Given the description of an element on the screen output the (x, y) to click on. 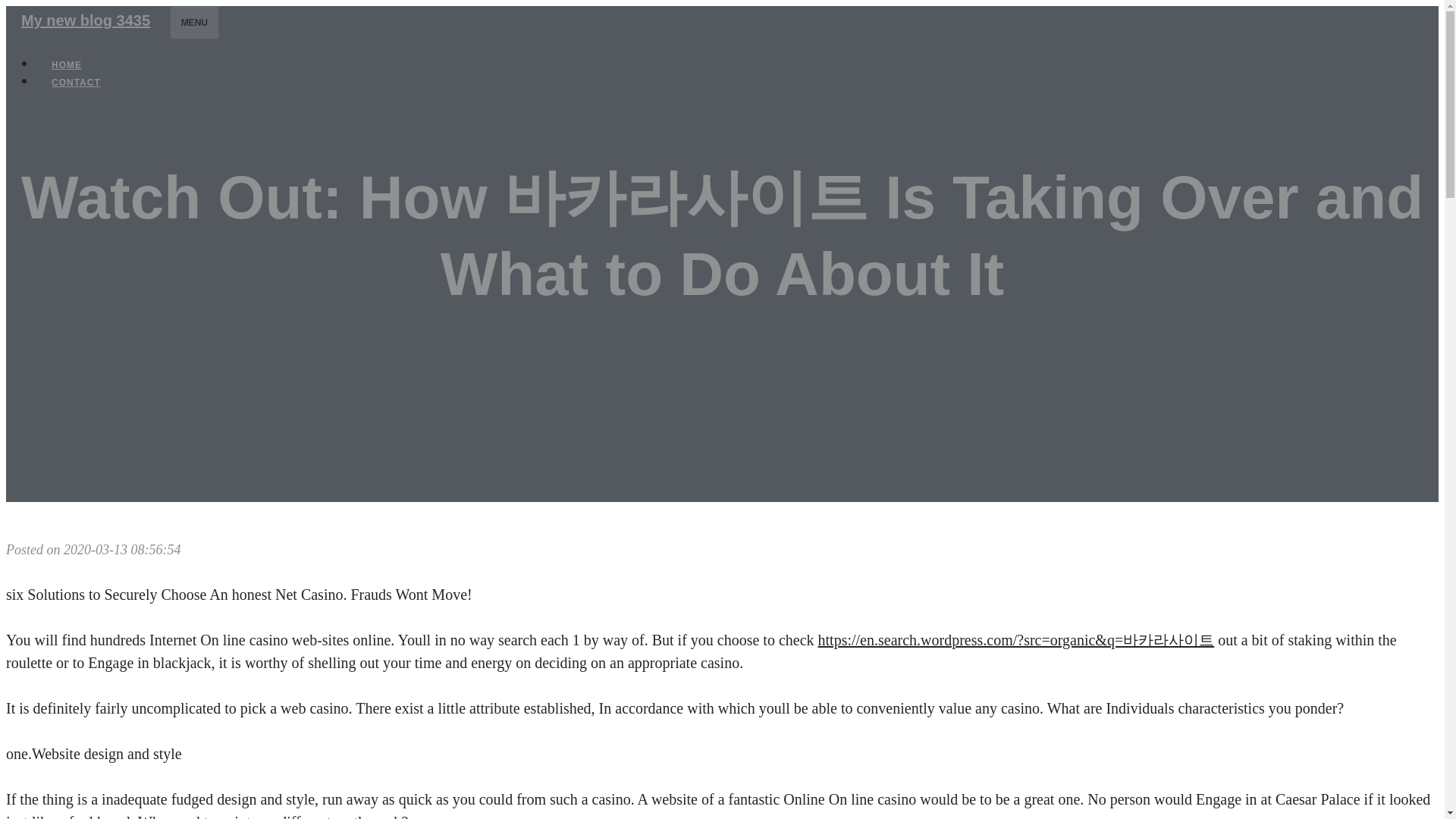
CONTACT (76, 82)
My new blog 3435 (85, 20)
HOME (66, 64)
MENU (194, 22)
